Given the description of an element on the screen output the (x, y) to click on. 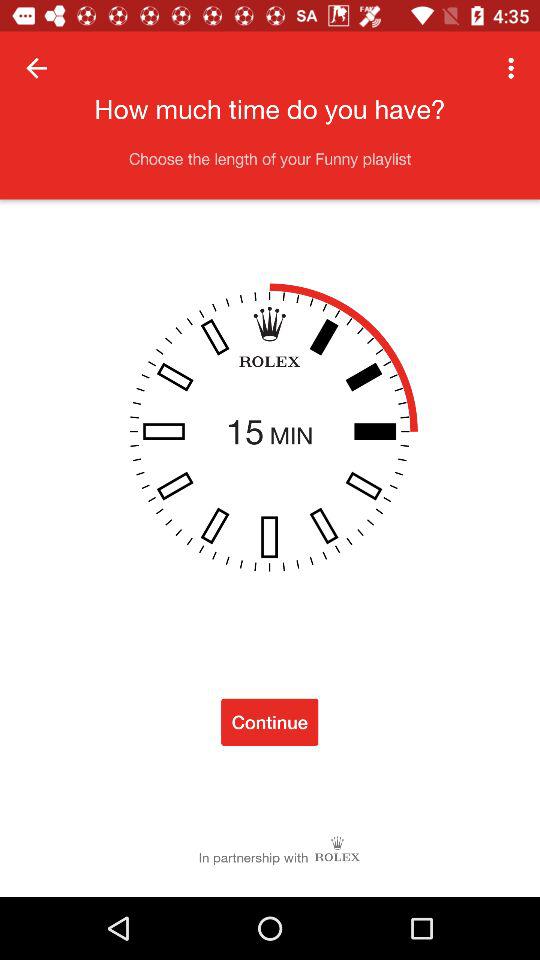
tap the continue (269, 721)
